Given the description of an element on the screen output the (x, y) to click on. 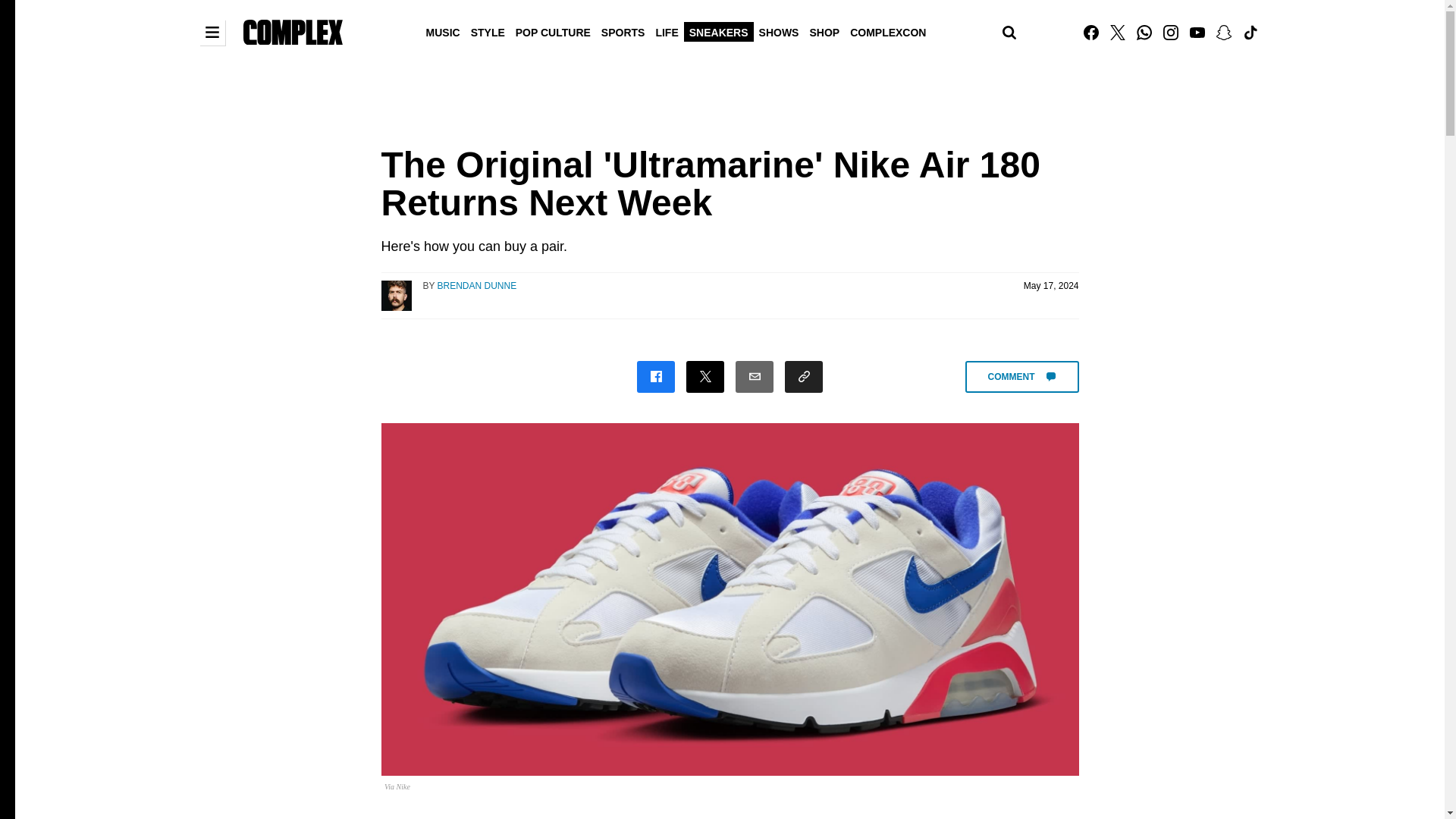
MUSIC (442, 30)
SHOP (823, 30)
COMPLEXCON (887, 30)
SHOWS (779, 30)
POP CULTURE (553, 30)
LIFE (665, 30)
SNEAKERS (719, 30)
STYLE (488, 30)
SPORTS (622, 30)
